Given the description of an element on the screen output the (x, y) to click on. 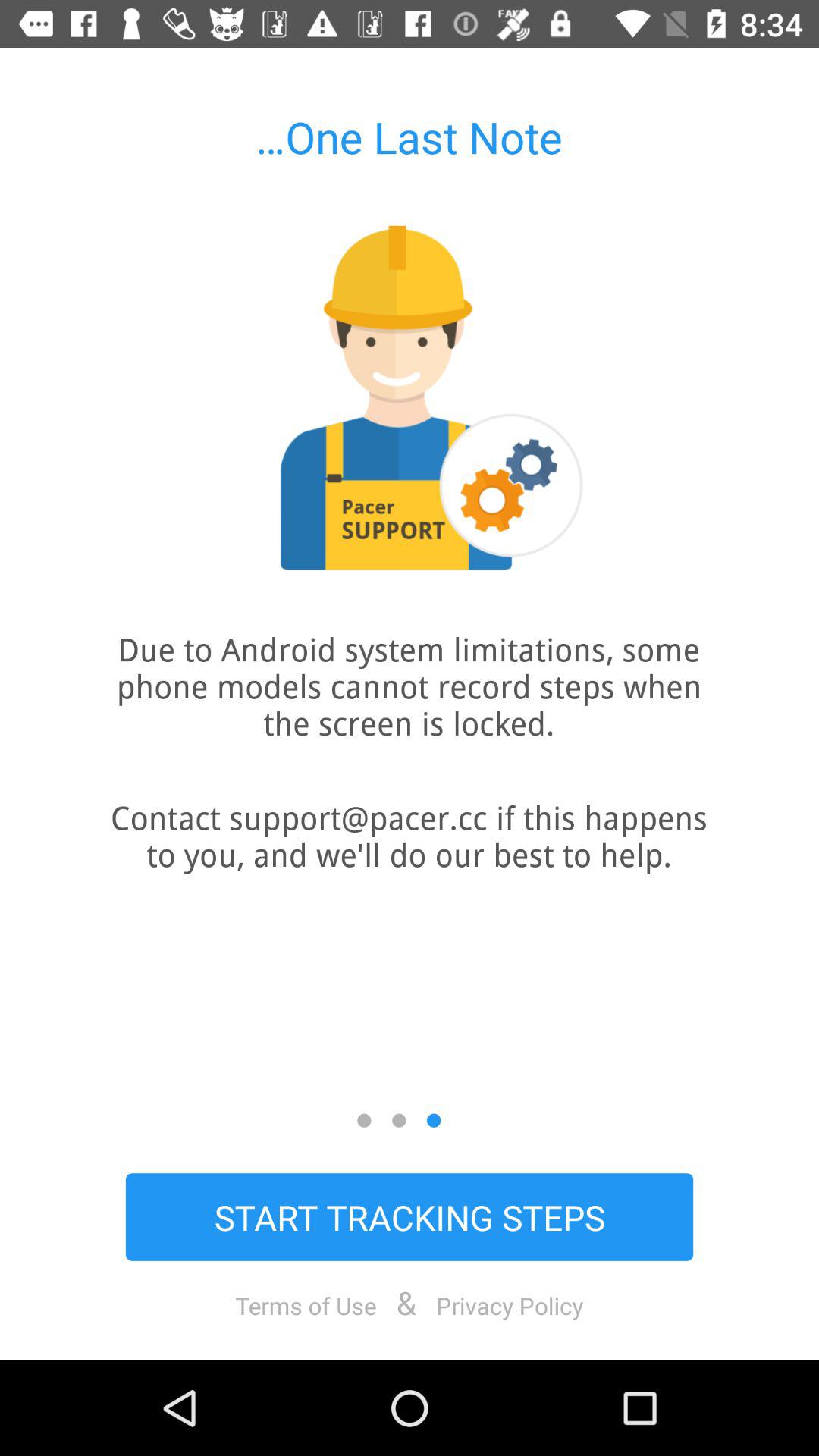
turn on icon below start tracking steps icon (305, 1305)
